Given the description of an element on the screen output the (x, y) to click on. 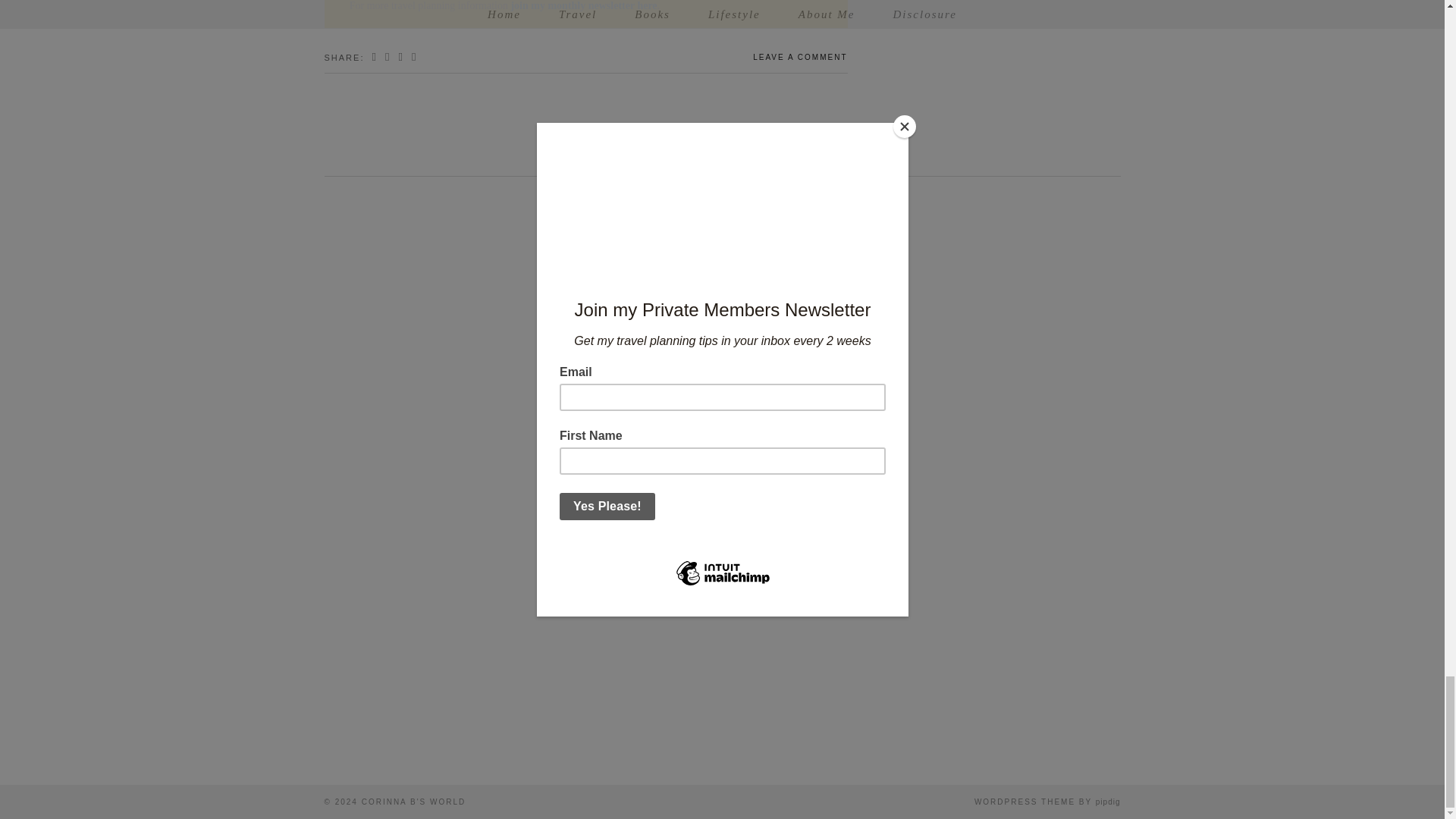
Share on Twitter (387, 57)
Share on tumblr (413, 57)
Share on Facebook (374, 57)
Share on Pinterest (400, 57)
